Given the description of an element on the screen output the (x, y) to click on. 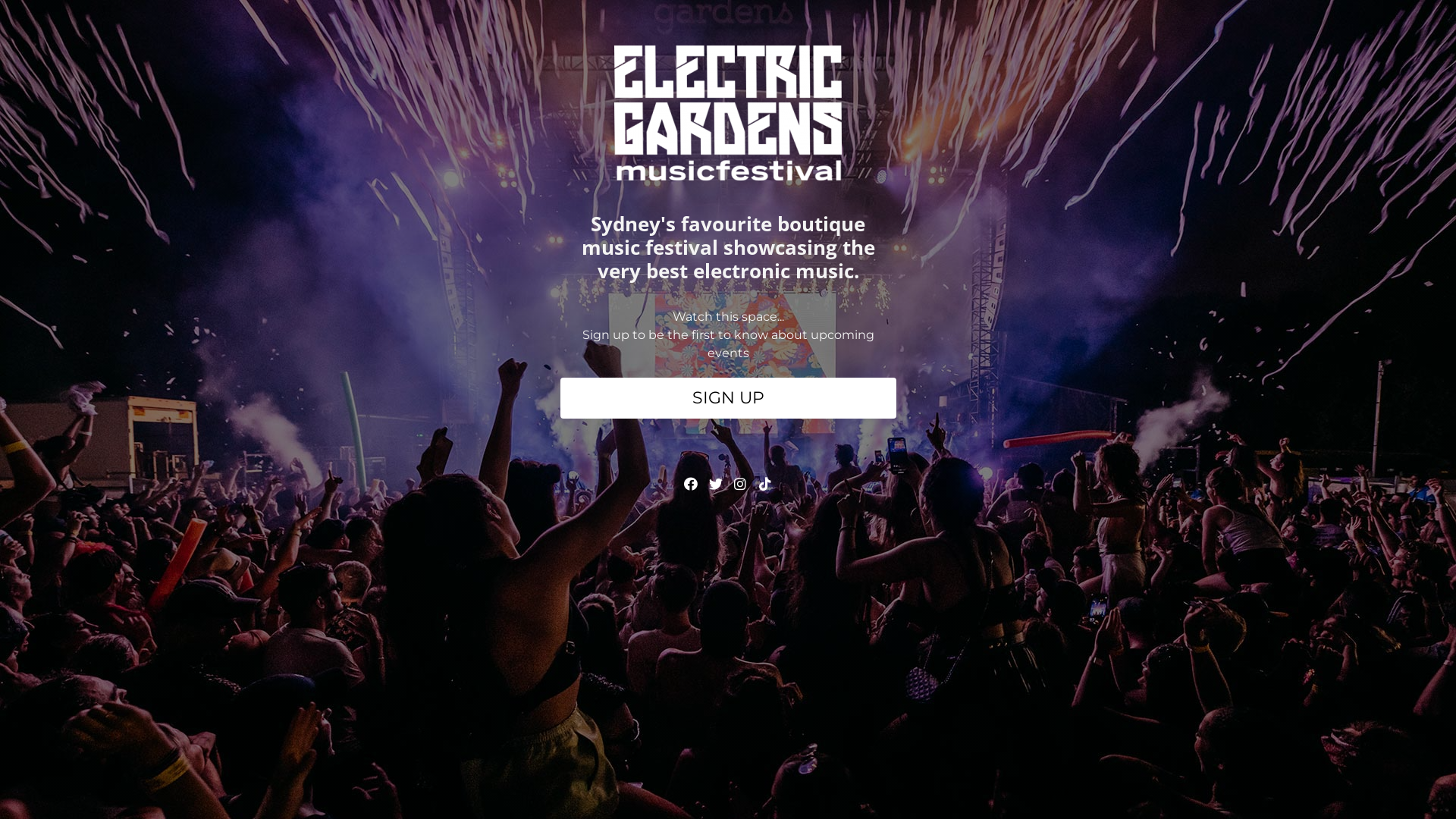
SIGN UP Element type: text (727, 397)
